Given the description of an element on the screen output the (x, y) to click on. 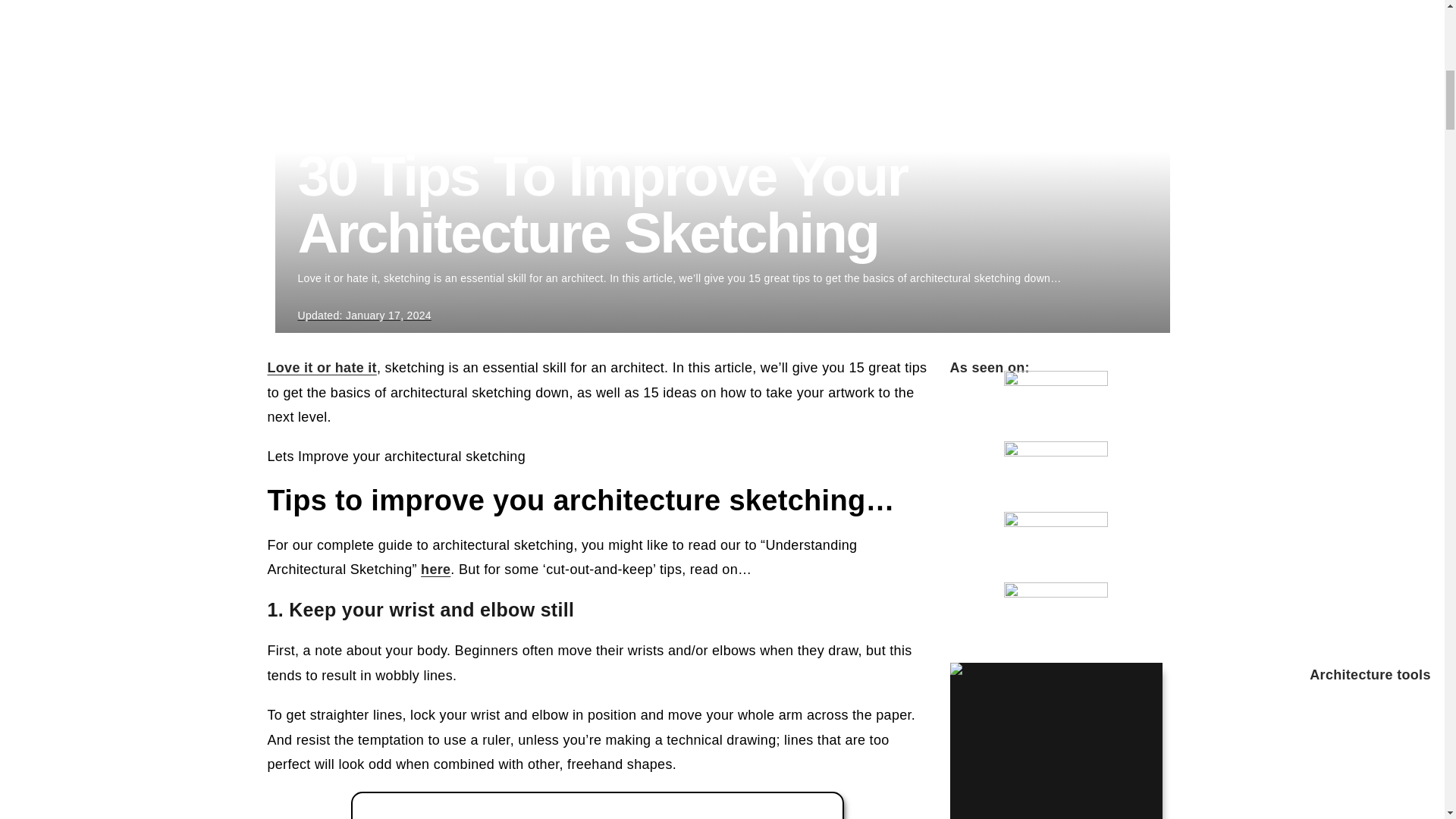
here (434, 569)
Love it or hate it (320, 367)
